Given the description of an element on the screen output the (x, y) to click on. 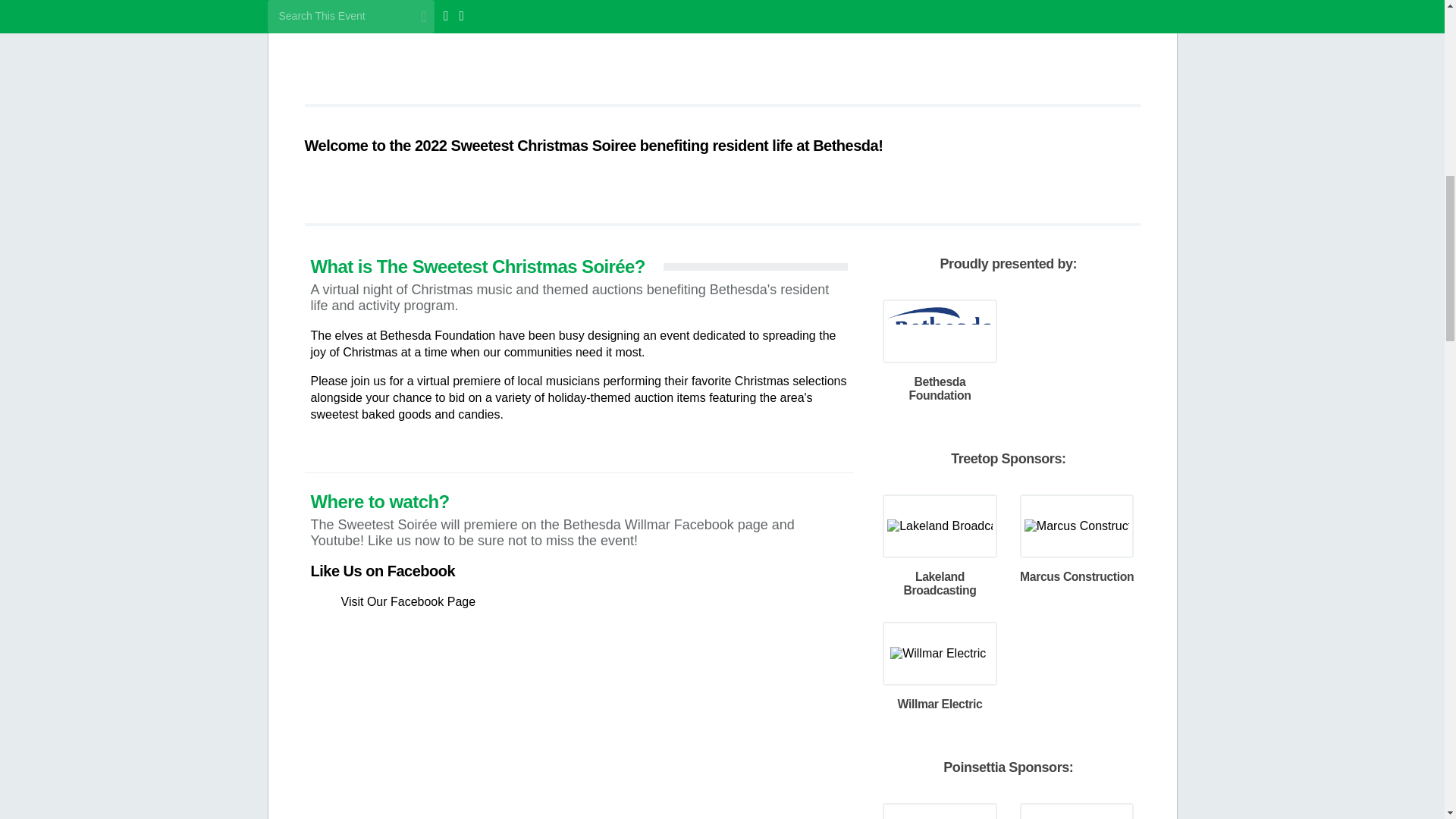
Register to Bid! (614, 38)
Bethesda Foundation (940, 329)
Visit Our Facebook Page (408, 601)
Auction Items (1043, 38)
Pre-Sale Items (829, 38)
Marcus Construction (1078, 524)
Lakeland Broadcasting (940, 524)
Donate Now! (400, 38)
Willmar Electric (939, 652)
